Given the description of an element on the screen output the (x, y) to click on. 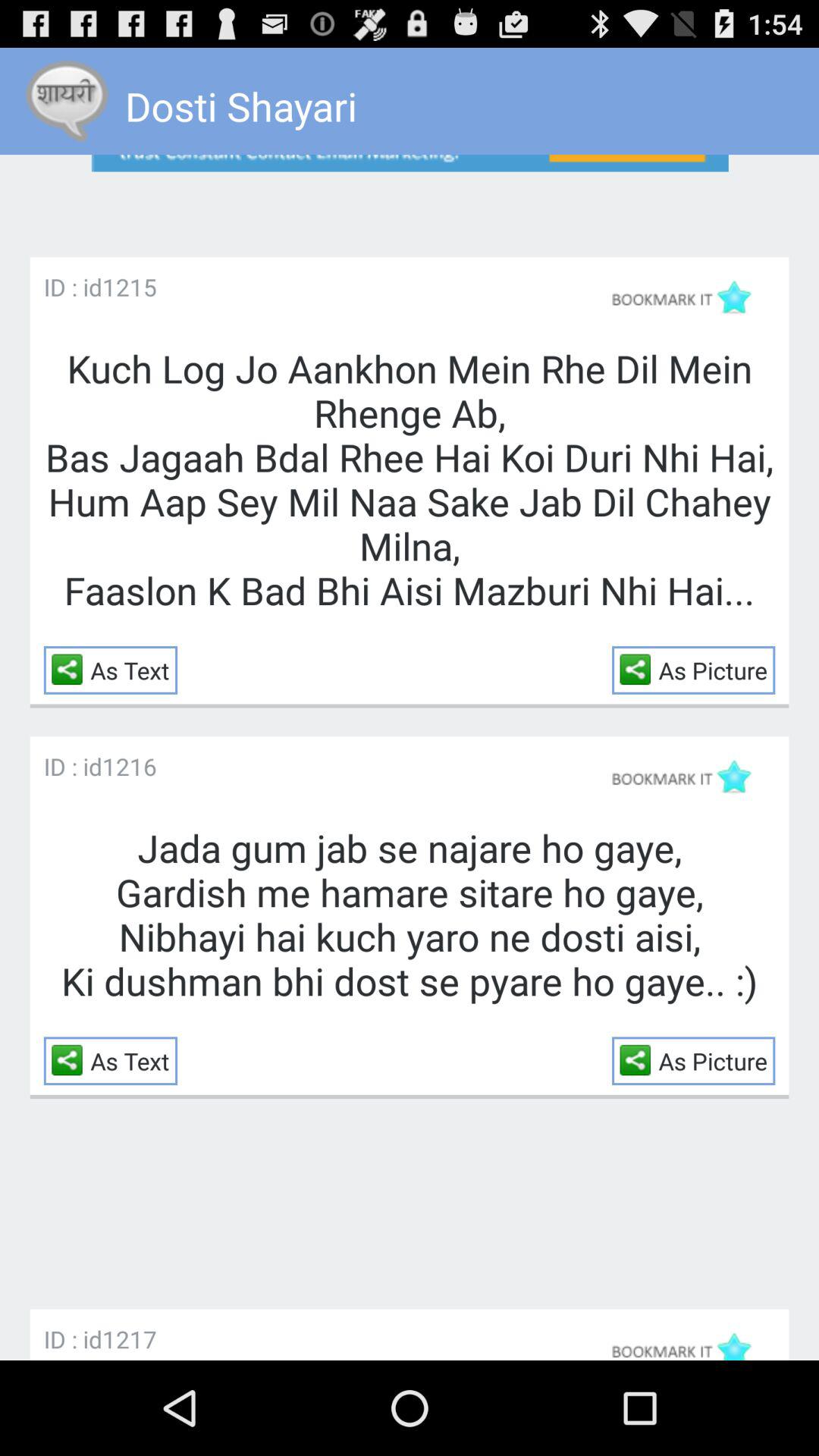
launch icon below the as text app (129, 1338)
